Given the description of an element on the screen output the (x, y) to click on. 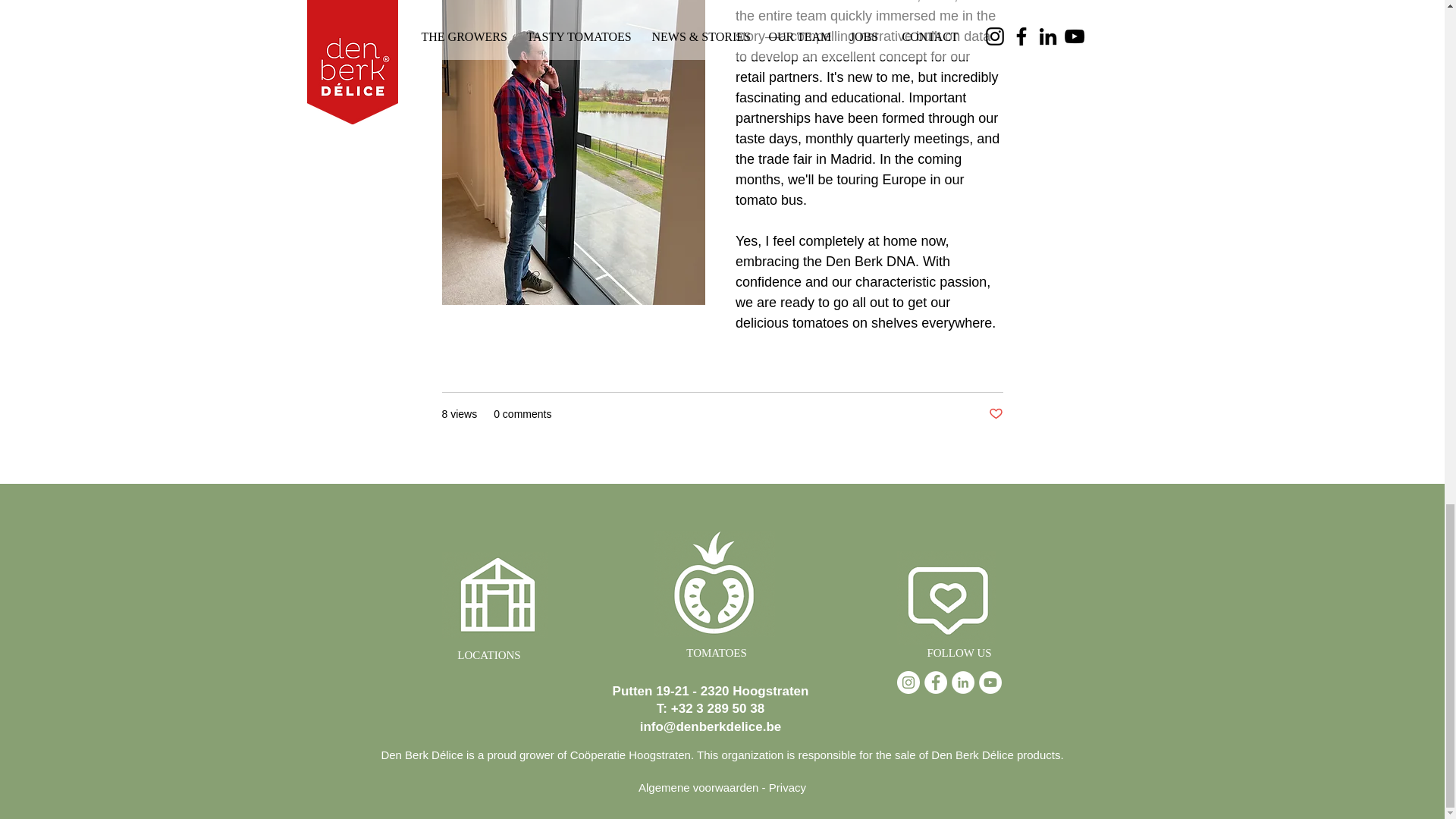
LOCATIONS (488, 655)
Privacy (787, 787)
TOMATOES (715, 653)
Post not marked as liked (995, 414)
Algemene voorwaarden (698, 787)
FOLLOW US (959, 653)
